Given the description of an element on the screen output the (x, y) to click on. 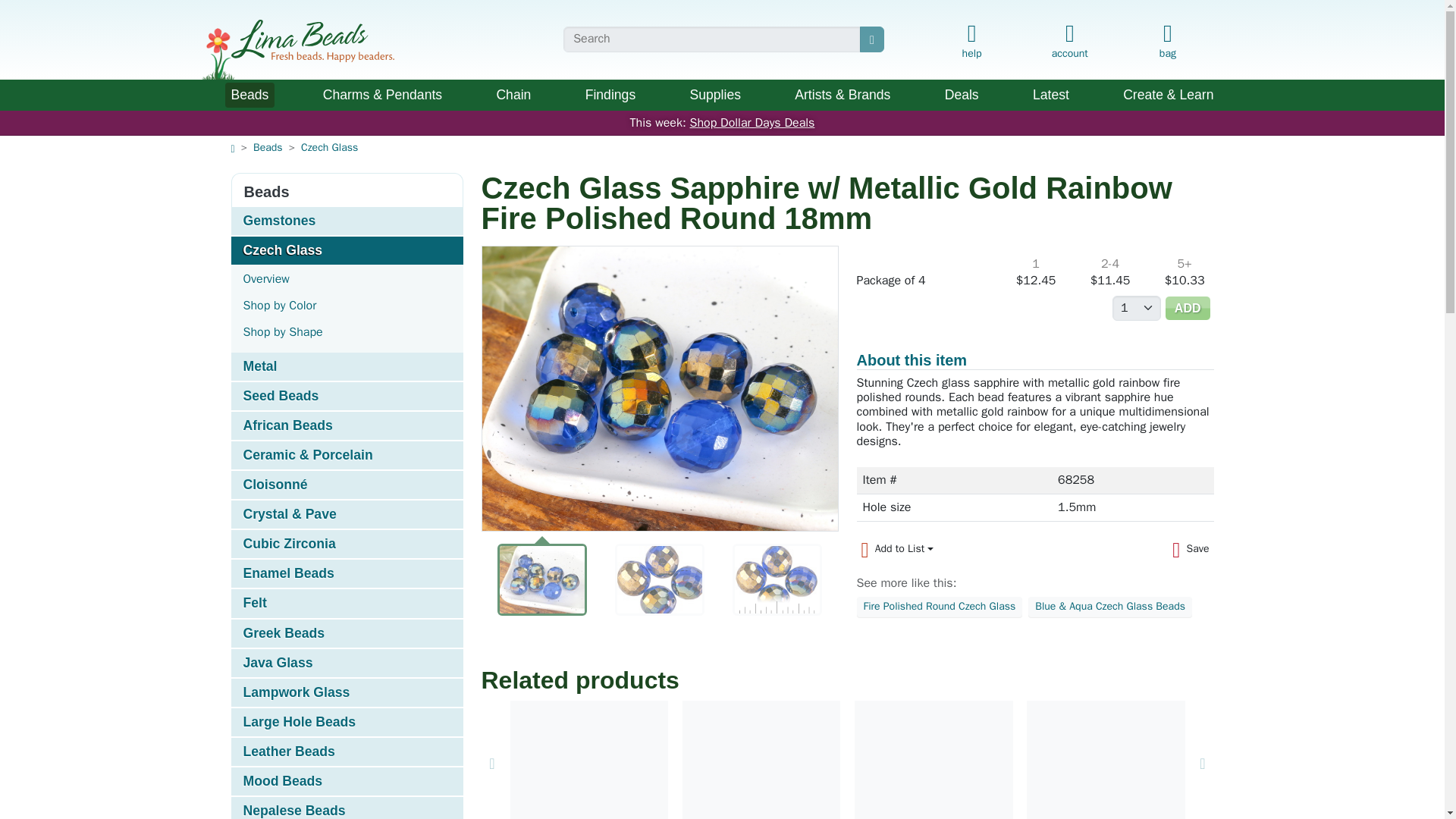
Beads (249, 94)
bag (1166, 42)
account (1069, 38)
help (971, 42)
